Given the description of an element on the screen output the (x, y) to click on. 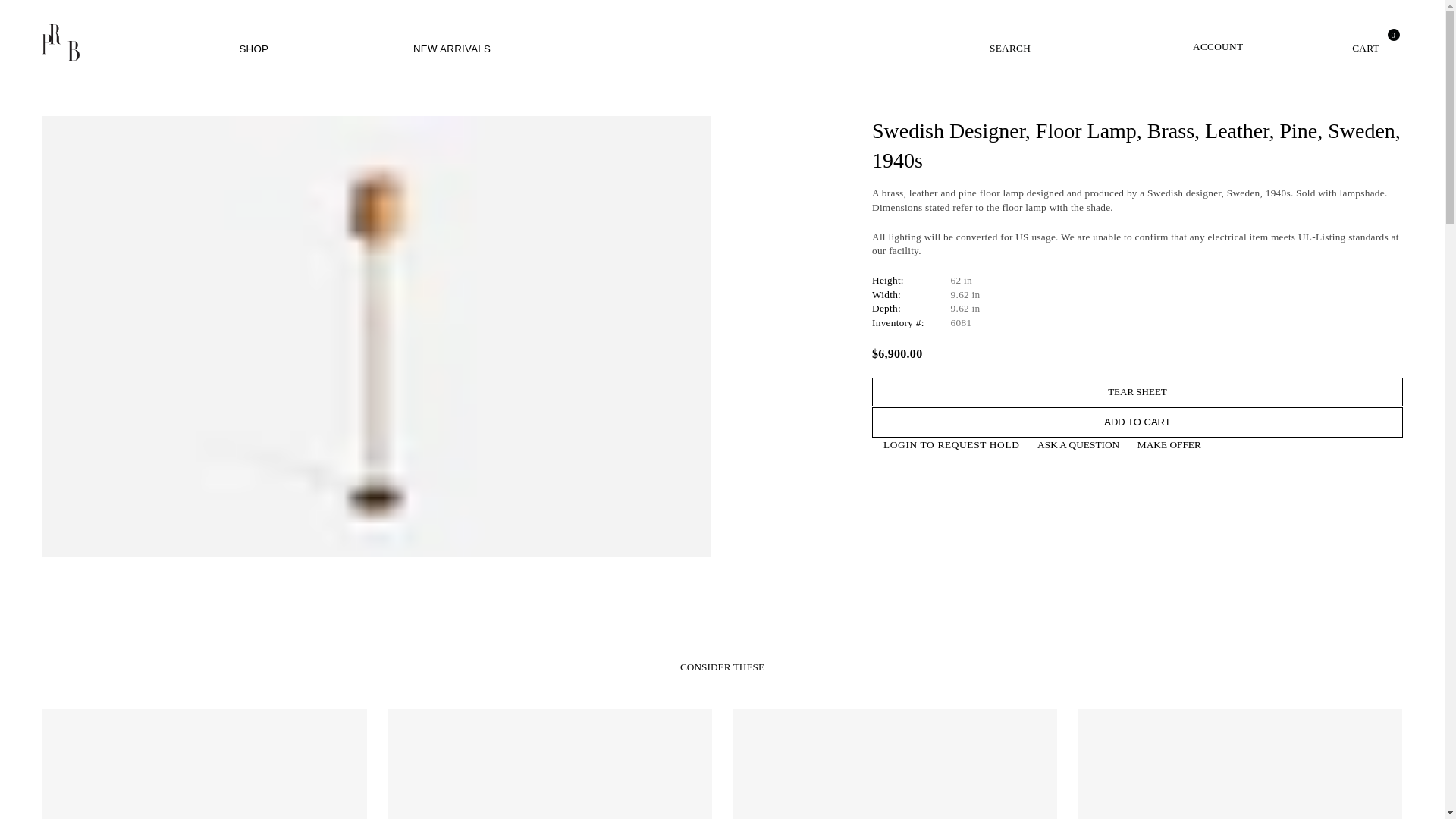
0 (1336, 42)
Finn Juhl, Rare Sofa, Walnut, Fabric, United States, 1951 (894, 764)
ACCOUNT (1190, 42)
George Nakashima, Long Chair, Walnut, Cotton, USA, 1960s (1239, 764)
SHOP (253, 48)
Cart (1336, 42)
Account (1190, 42)
NEW ARRIVALS (451, 48)
Search (1009, 42)
